Given the description of an element on the screen output the (x, y) to click on. 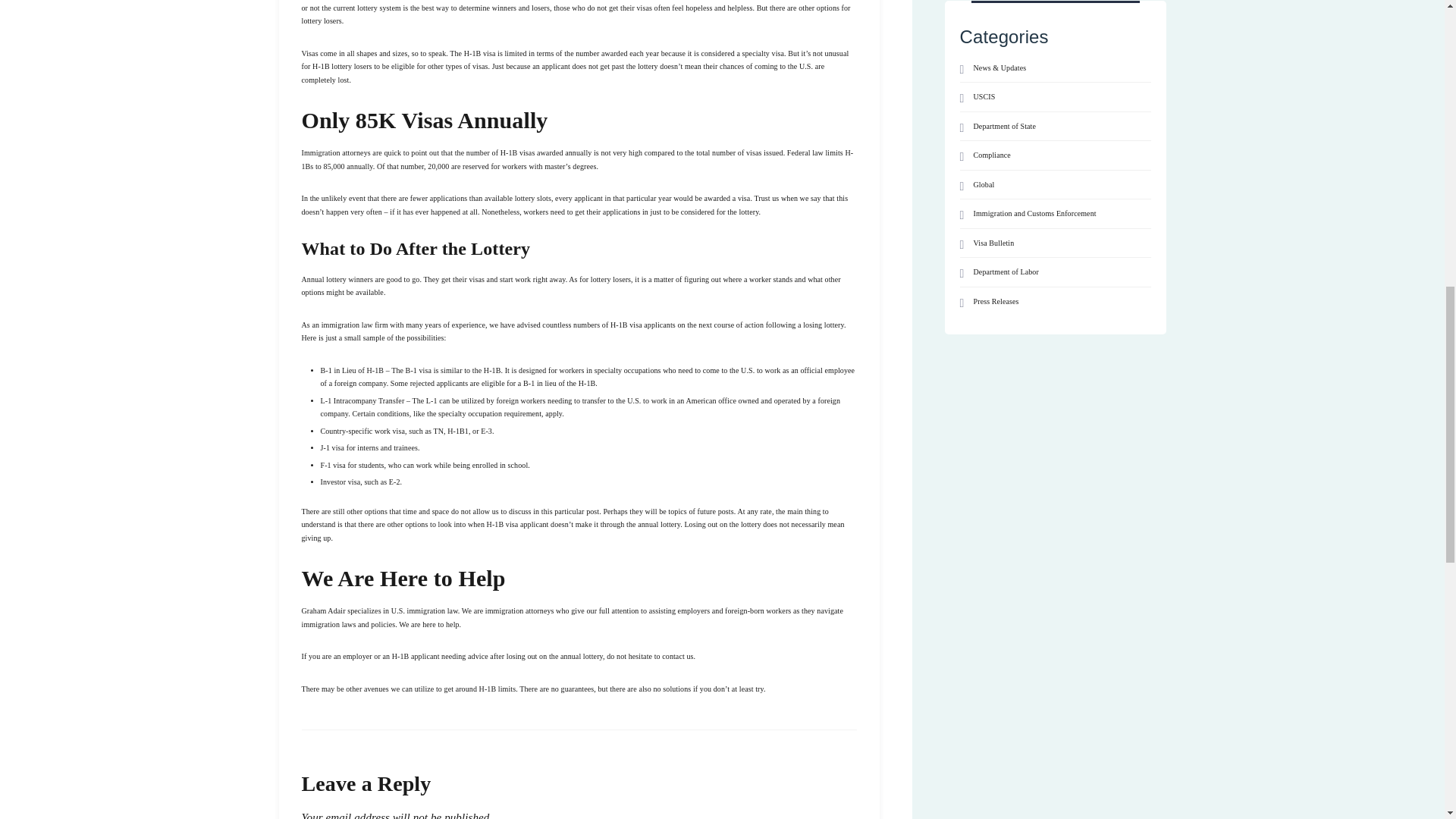
contact us (677, 655)
USCIS (977, 97)
Compliance (984, 155)
Department of State (997, 126)
immigration law firm (353, 325)
